Given the description of an element on the screen output the (x, y) to click on. 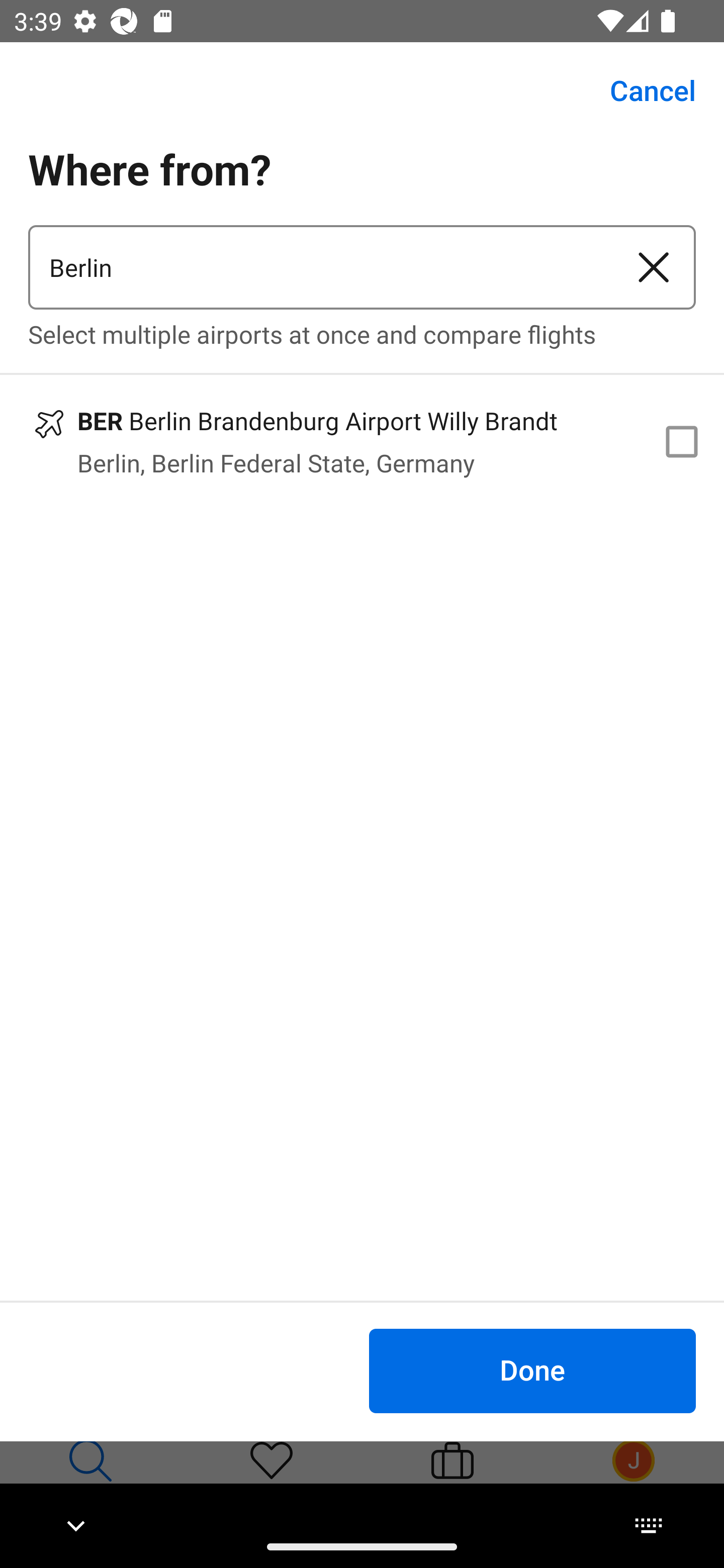
Cancel (641, 90)
Berlin (319, 266)
Clear airport or city (653, 266)
Done (532, 1370)
